Given the description of an element on the screen output the (x, y) to click on. 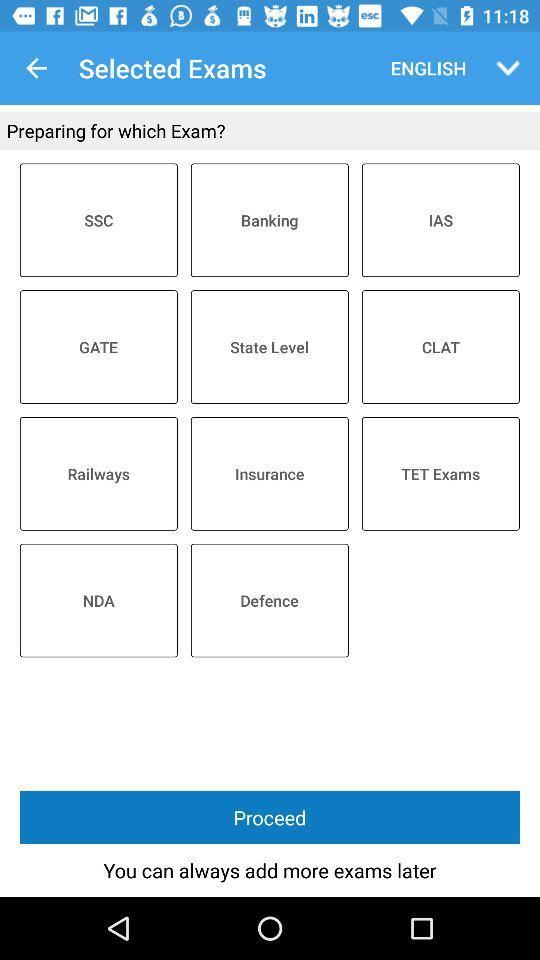
turn on item above you can always item (269, 817)
